Given the description of an element on the screen output the (x, y) to click on. 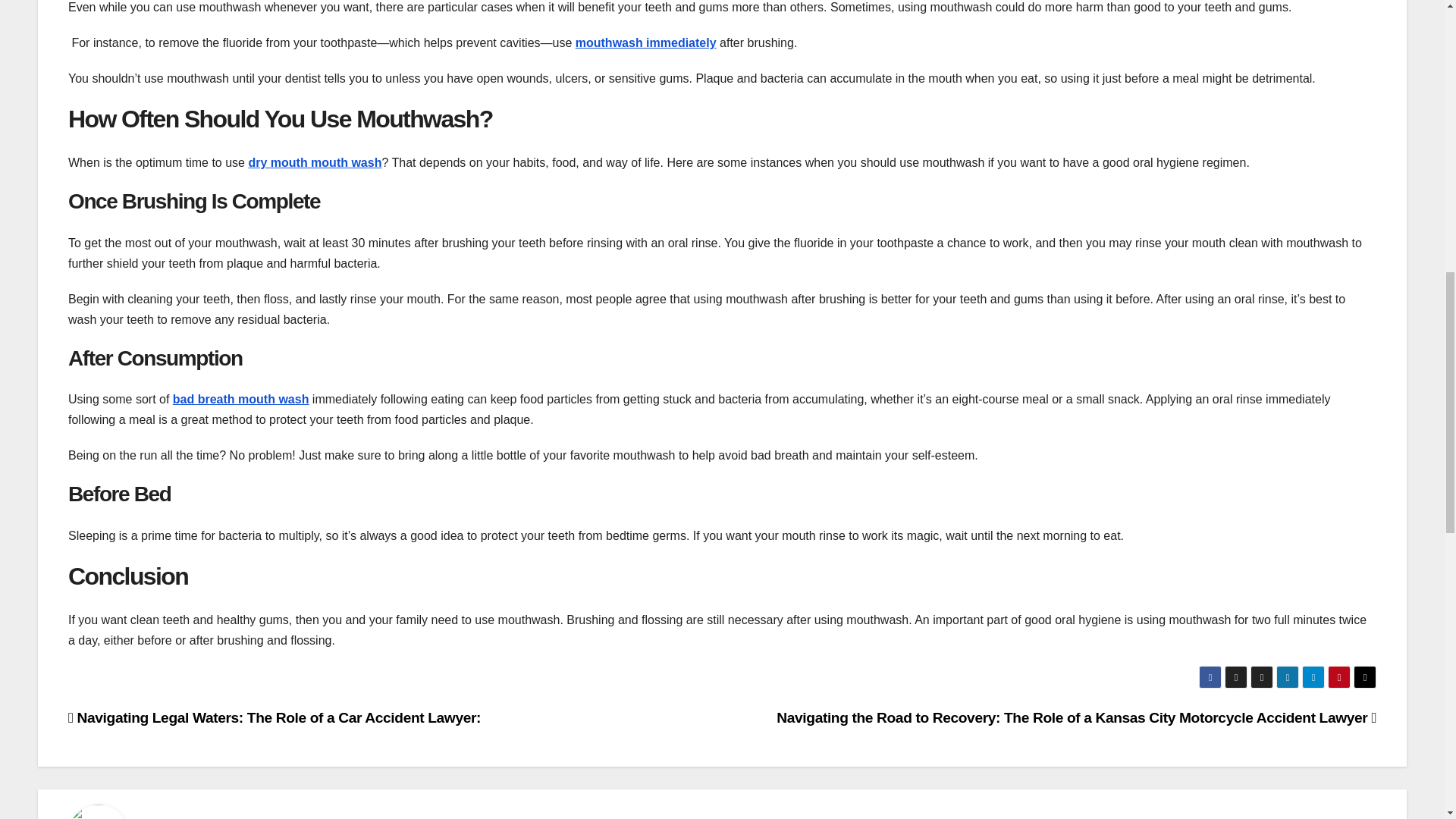
dry mouth mouth wash (314, 162)
mouthwash immediately (645, 42)
Navigating Legal Waters: The Role of a Car Accident Lawyer: (274, 717)
bad breath mouth wash (240, 399)
